Given the description of an element on the screen output the (x, y) to click on. 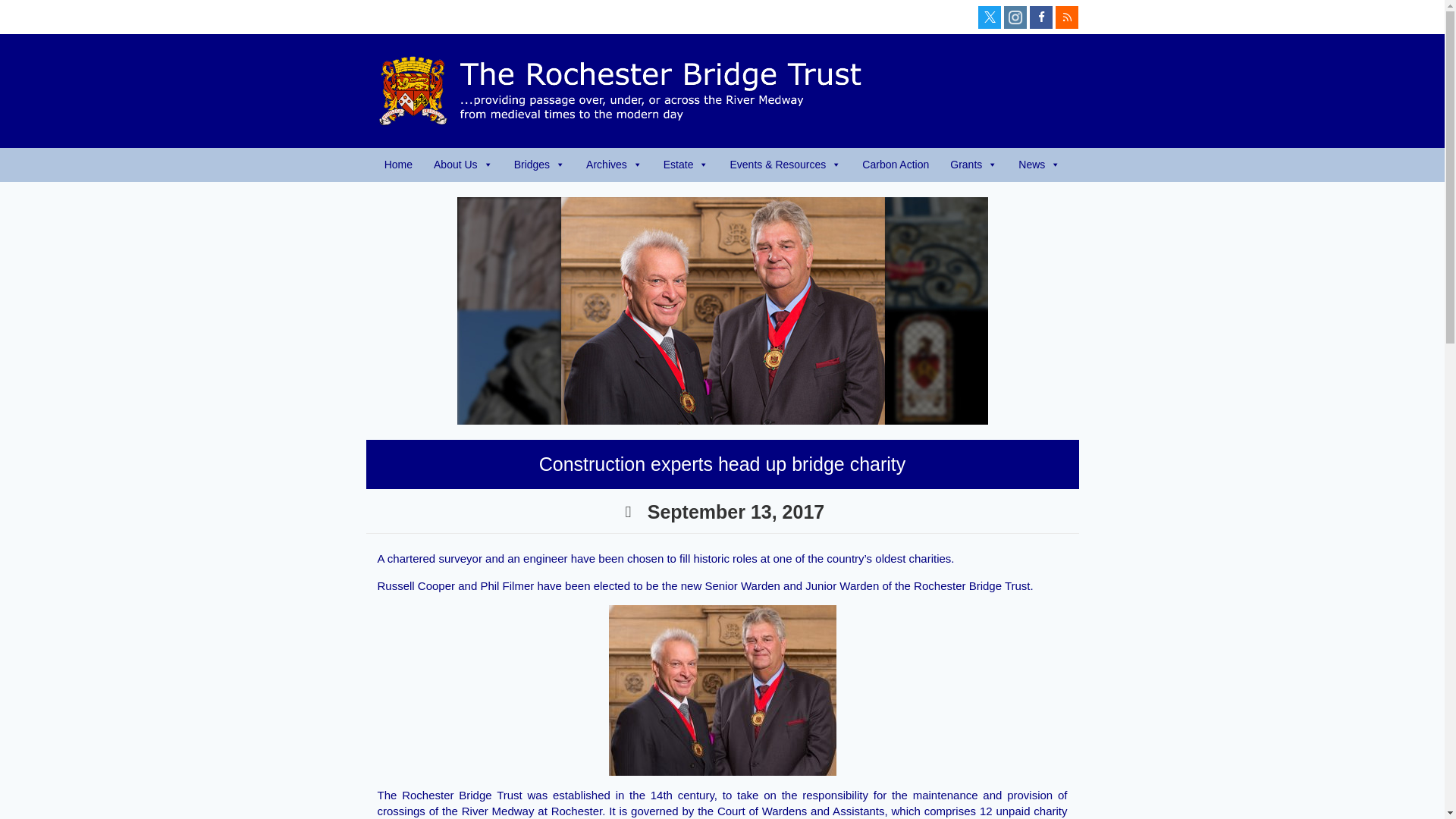
Home (398, 164)
About Us (463, 164)
Bridges (539, 164)
Home (398, 164)
